Given the description of an element on the screen output the (x, y) to click on. 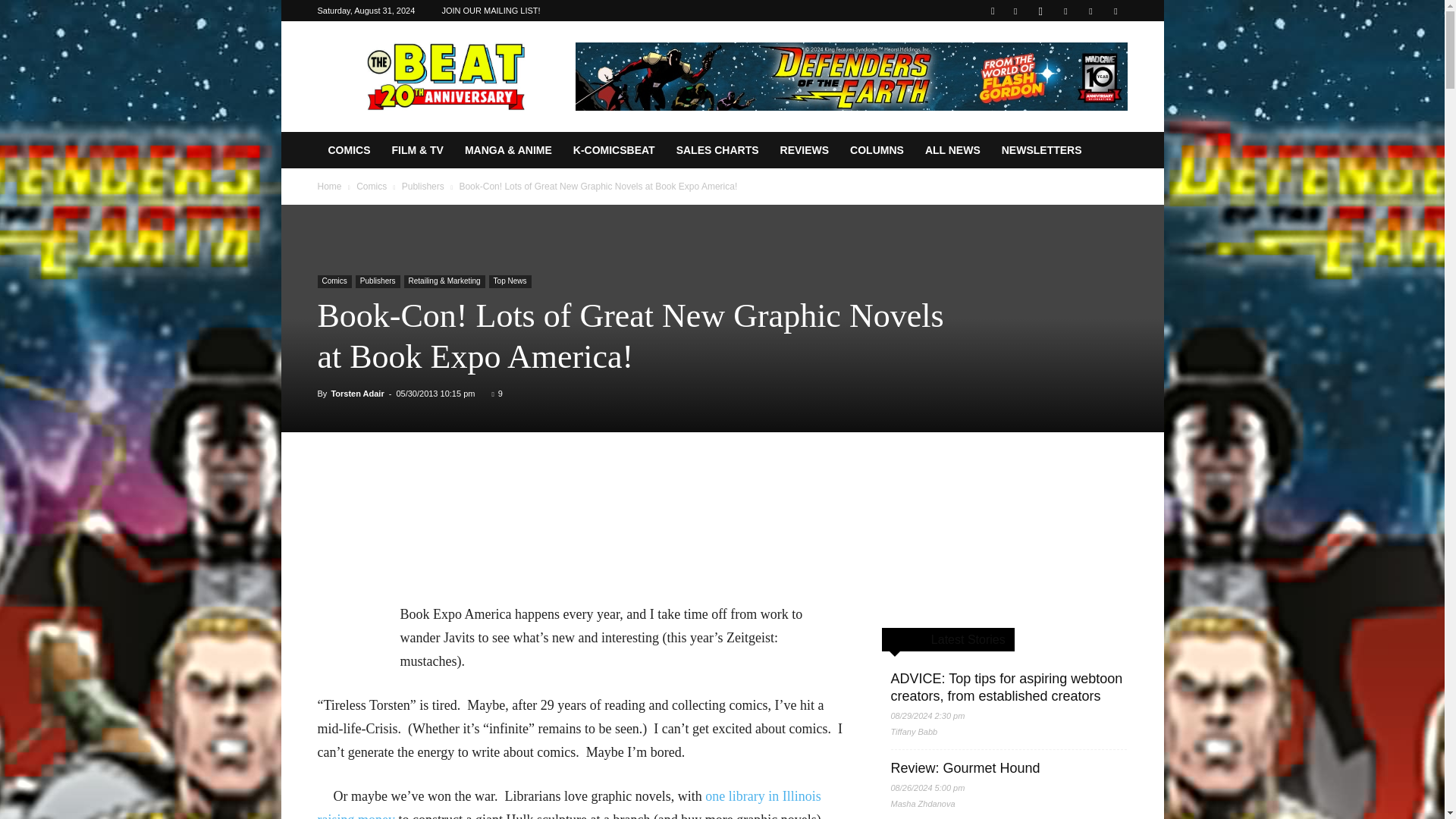
View all posts in Publishers (422, 185)
RSS (1065, 10)
COMICS (348, 149)
K-COMICSBEAT (613, 149)
REVIEWS (805, 149)
COLUMNS (877, 149)
View all posts in Comics (371, 185)
Twitter (1090, 10)
Search (1085, 64)
NEWSLETTERS (1042, 149)
